Given the description of an element on the screen output the (x, y) to click on. 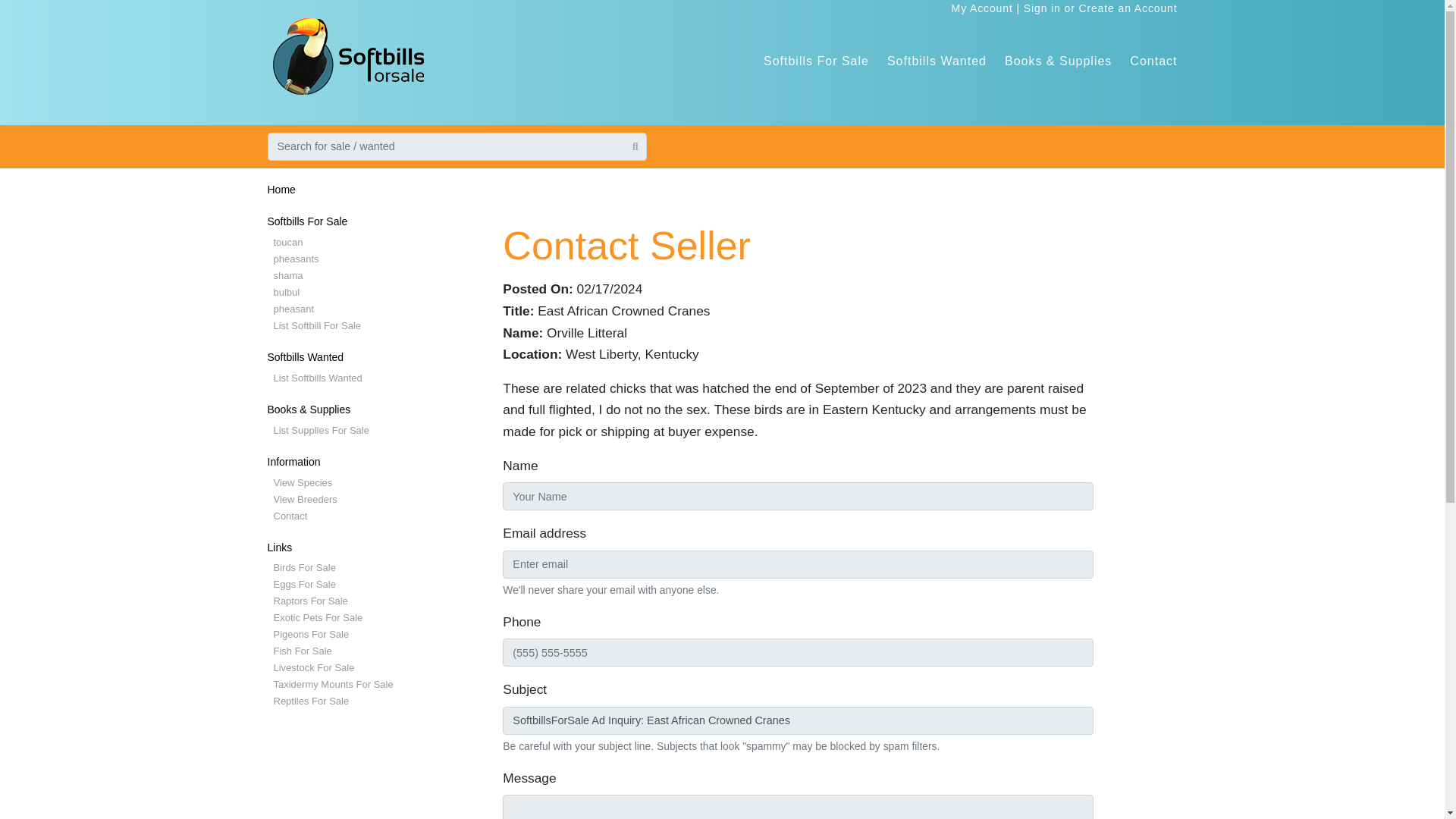
shama (287, 275)
Birds For Sale (303, 567)
Sign in (1042, 8)
Fish For Sale (302, 650)
Contact (1152, 61)
List Softbills Wanted (317, 378)
Raptors For Sale (310, 600)
Softbills Wanted (936, 61)
Links (279, 547)
Softbills For Sale (306, 221)
bulbul (286, 292)
Home (280, 189)
List Softbill For Sale (317, 325)
toucan (287, 242)
SoftbillsForSale Ad Inquiry: East African Crowned Cranes (797, 720)
